Given the description of an element on the screen output the (x, y) to click on. 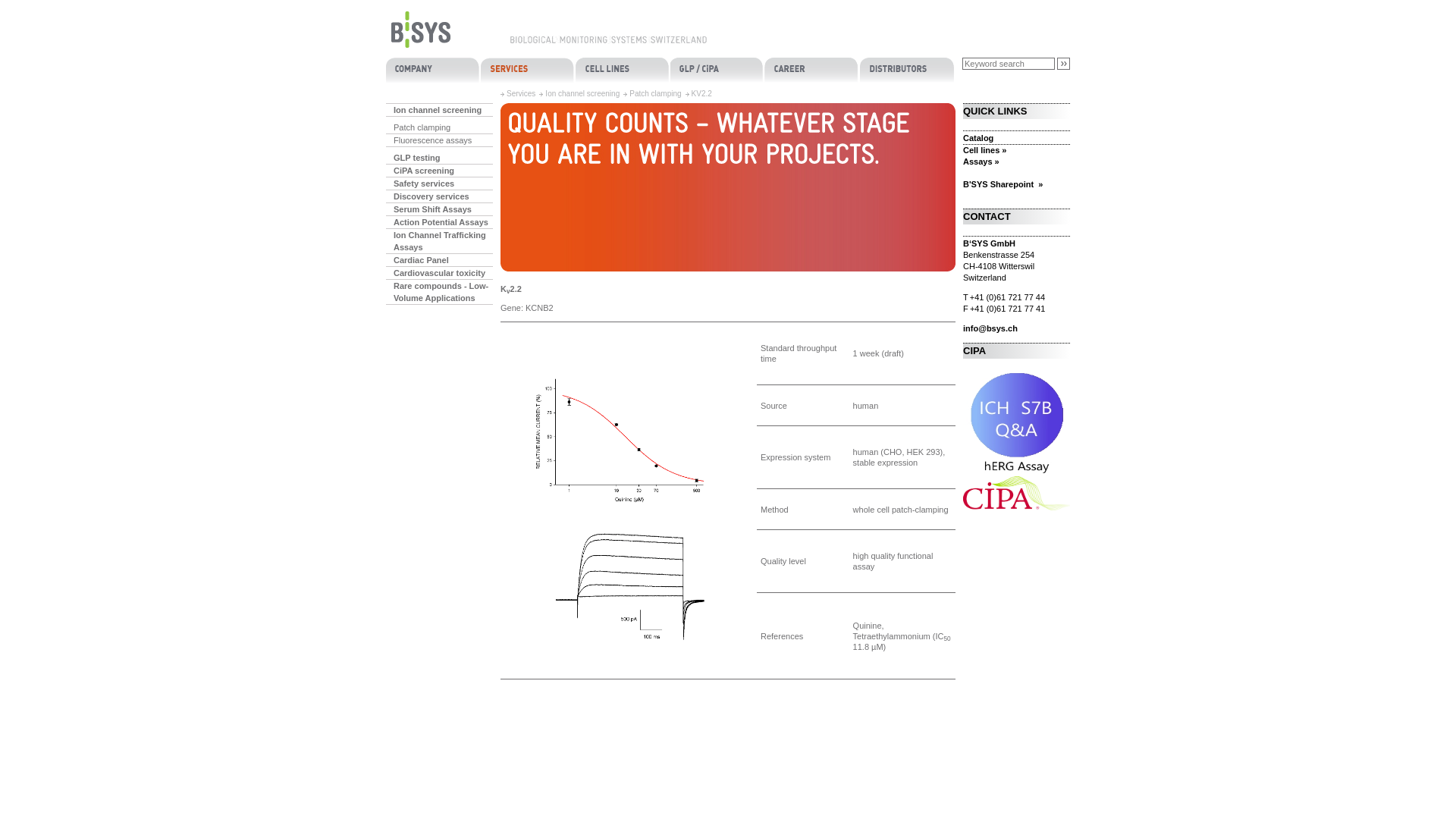
Services Element type: text (520, 93)
Patch clamping Element type: text (438, 127)
info@bsys.ch Element type: text (1016, 328)
Cardiac Panel Element type: text (438, 260)
GLP / CiPA Element type: text (717, 70)
Rare compounds - Low-Volume Applications Element type: text (438, 291)
Fluorescence assays Element type: text (438, 140)
CiPA screening Element type: hover (1016, 493)
Ion channel screening Element type: text (582, 93)
Cardiovascular toxicity Element type: text (438, 272)
Services Element type: text (527, 70)
Contact Element type: text (432, 70)
Serum Shift Assays Element type: text (438, 209)
Safety services Element type: text (438, 183)
Distributors Element type: text (906, 70)
GLP testing Element type: text (438, 157)
Suchen Element type: text (1063, 63)
Ion channel screening Element type: text (438, 109)
ICH S7B Q/A Element type: hover (1016, 423)
Career Element type: text (812, 70)
Patch clamping Element type: text (654, 93)
Action Potential Assays Element type: text (438, 222)
CiPA screening Element type: text (438, 170)
Catalog Element type: text (1016, 138)
Ion Channel Trafficking Assays Element type: text (438, 241)
Discovery services Element type: text (438, 196)
Cell lines Element type: text (622, 70)
Kv2.2 Element type: hover (628, 500)
